Given the description of an element on the screen output the (x, y) to click on. 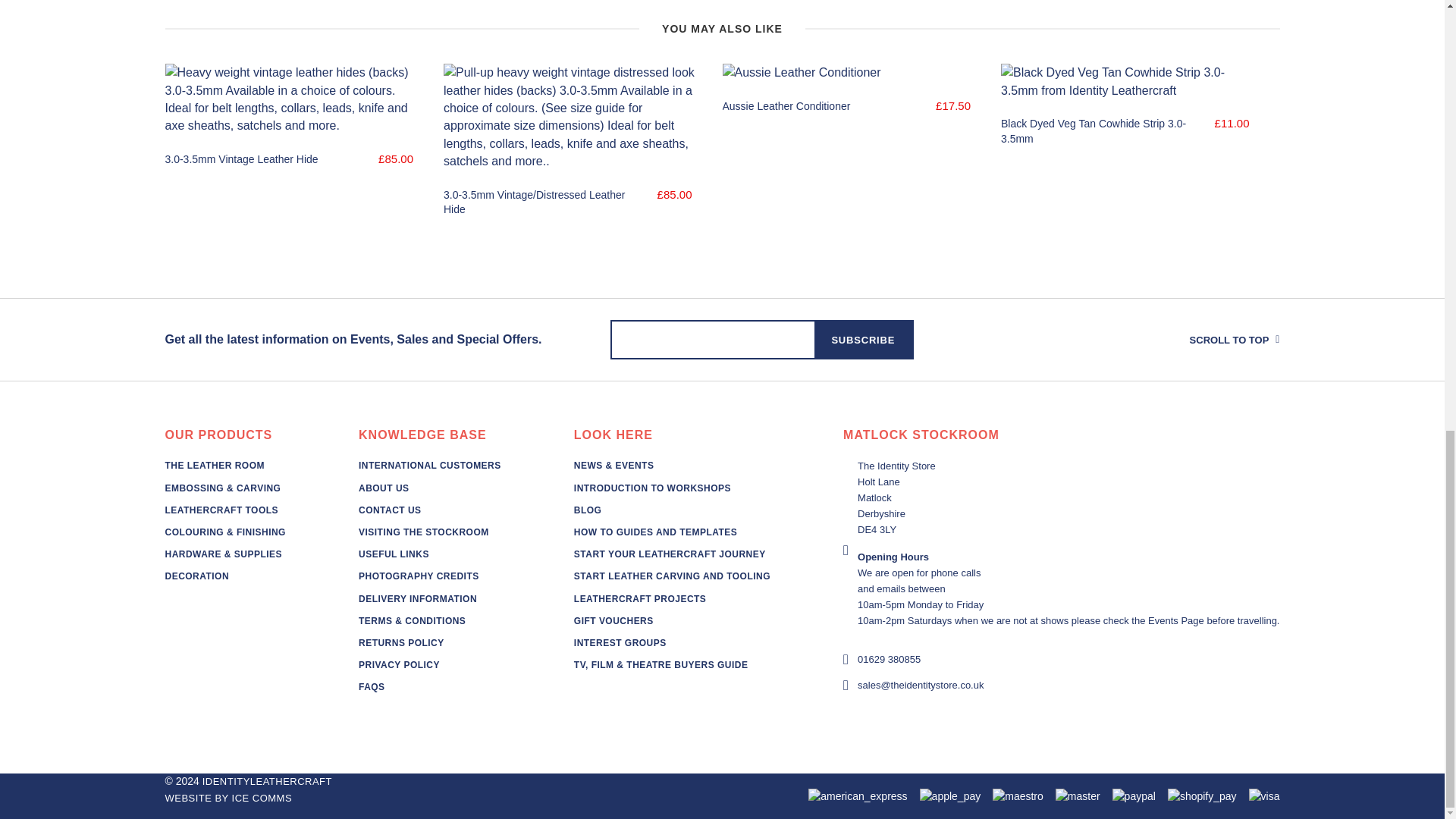
SCROLL TO TOP (1186, 339)
